Given the description of an element on the screen output the (x, y) to click on. 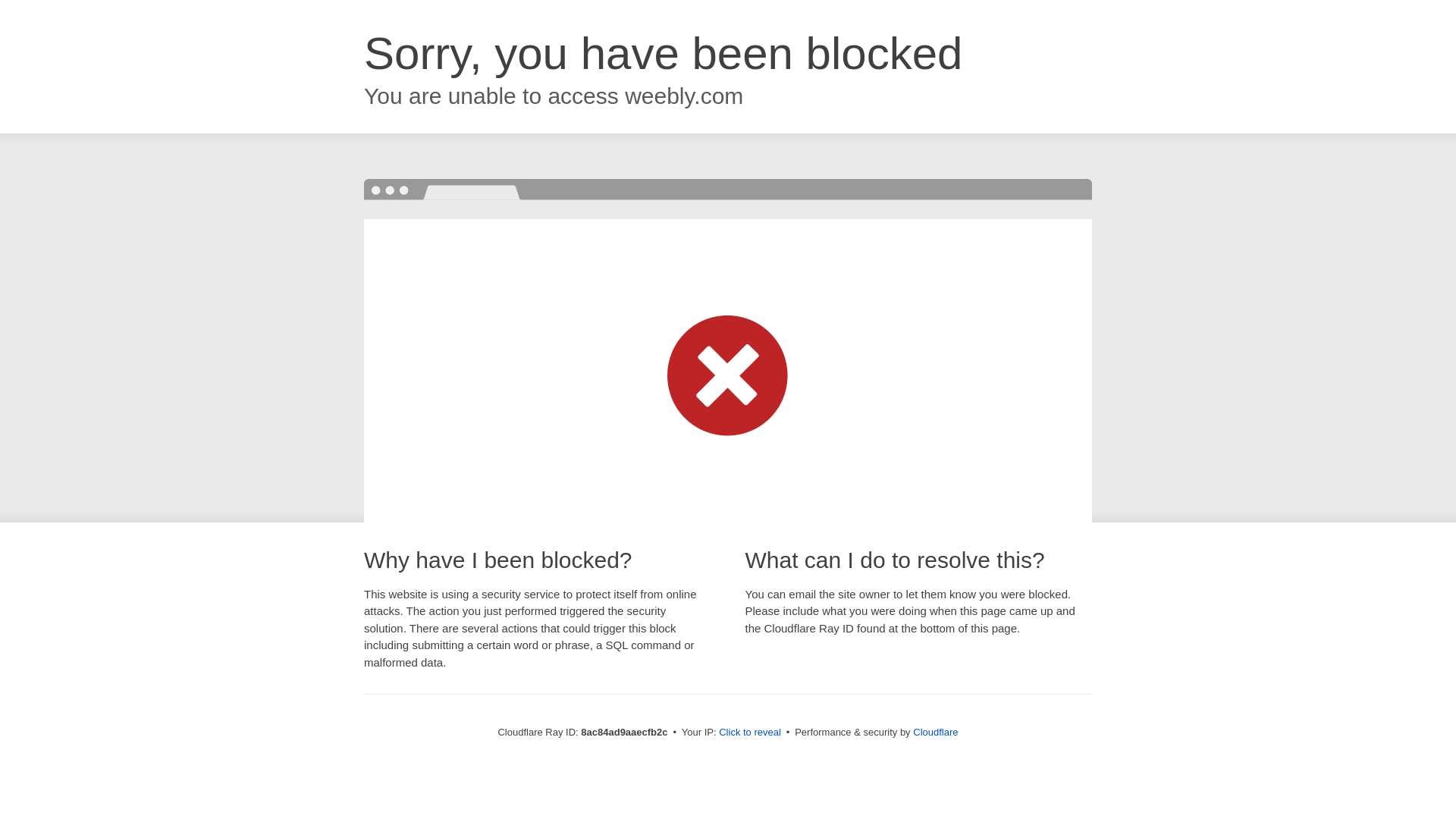
Click to reveal (749, 732)
Cloudflare (935, 731)
